Given the description of an element on the screen output the (x, y) to click on. 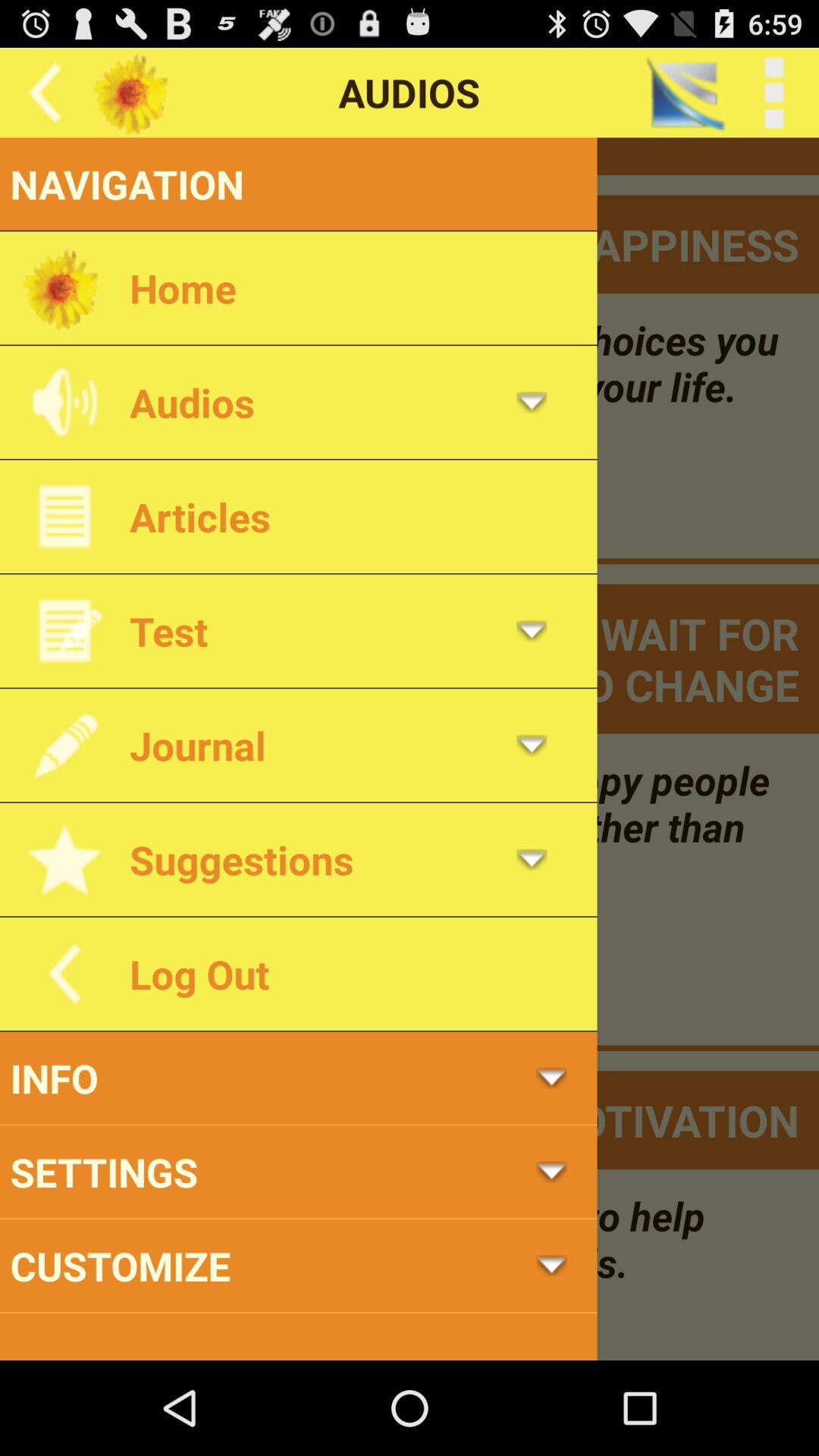
click the three dots button on the top right corner of the web page (774, 93)
